Given the description of an element on the screen output the (x, y) to click on. 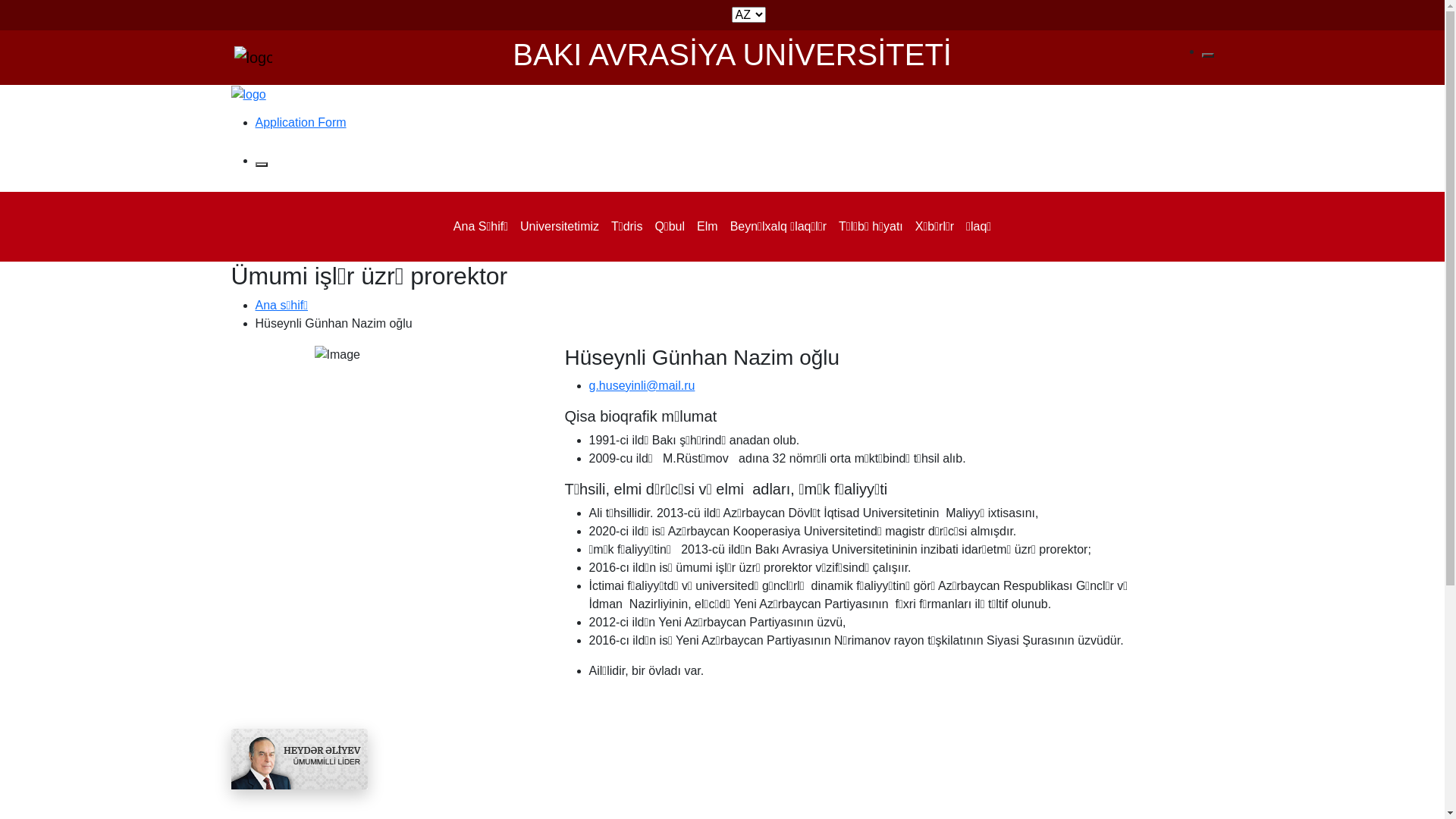
Application Form Element type: text (299, 122)
g.huseyinli@mail.ru Element type: text (641, 385)
Universitetimiz Element type: text (559, 226)
Elm Element type: text (707, 226)
